Given the description of an element on the screen output the (x, y) to click on. 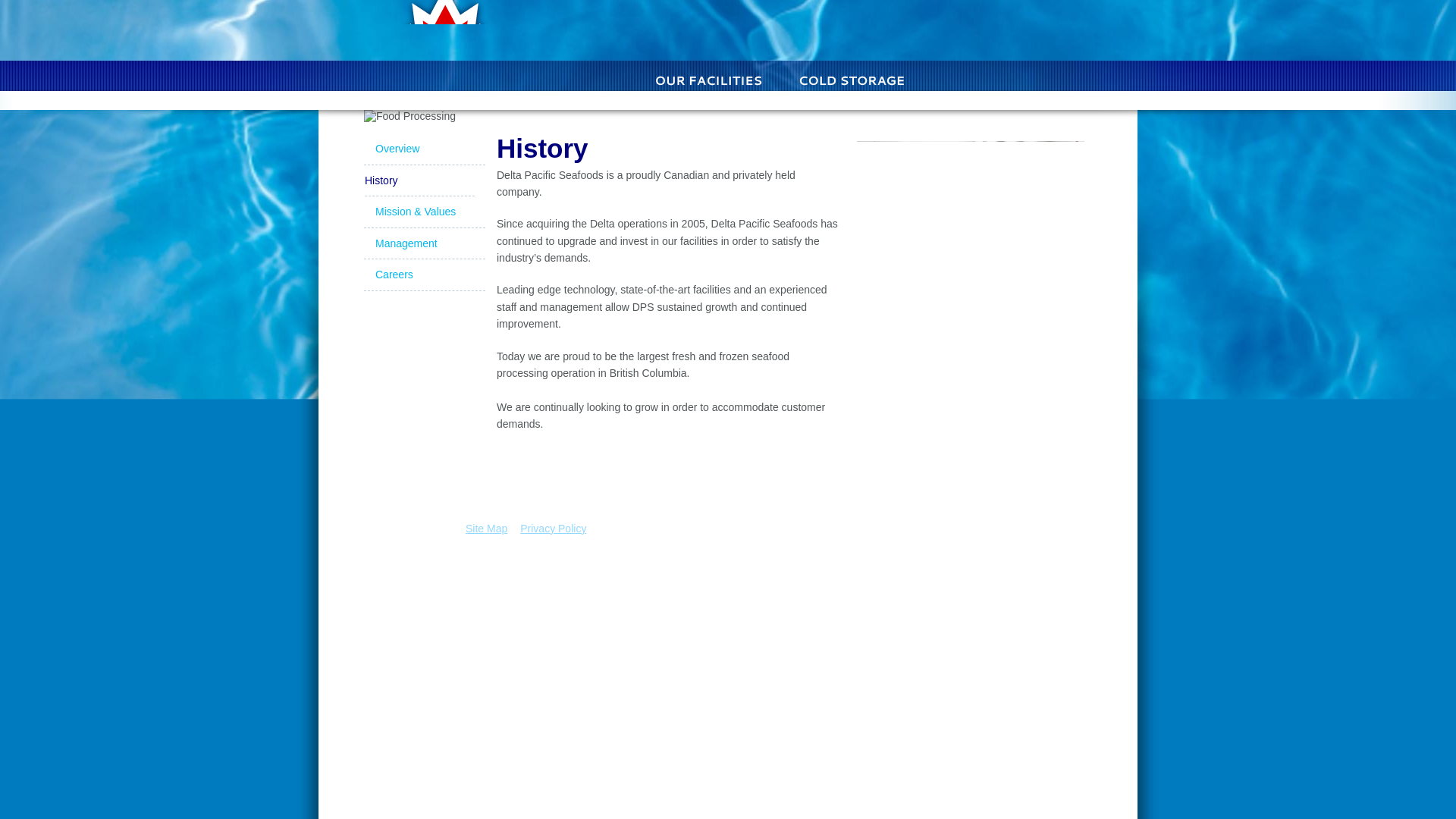
History (413, 181)
Cold Storage (852, 78)
Our Facilities (709, 78)
About Us (584, 78)
Food Processing (1009, 78)
Overview (424, 149)
Management (424, 244)
Careers (424, 275)
Contact Us (1031, 28)
Site Map (485, 528)
Photo Gallery (916, 28)
CANFISCO GROUP (1032, 561)
Client Login (724, 28)
Privacy Policy (552, 528)
